Given the description of an element on the screen output the (x, y) to click on. 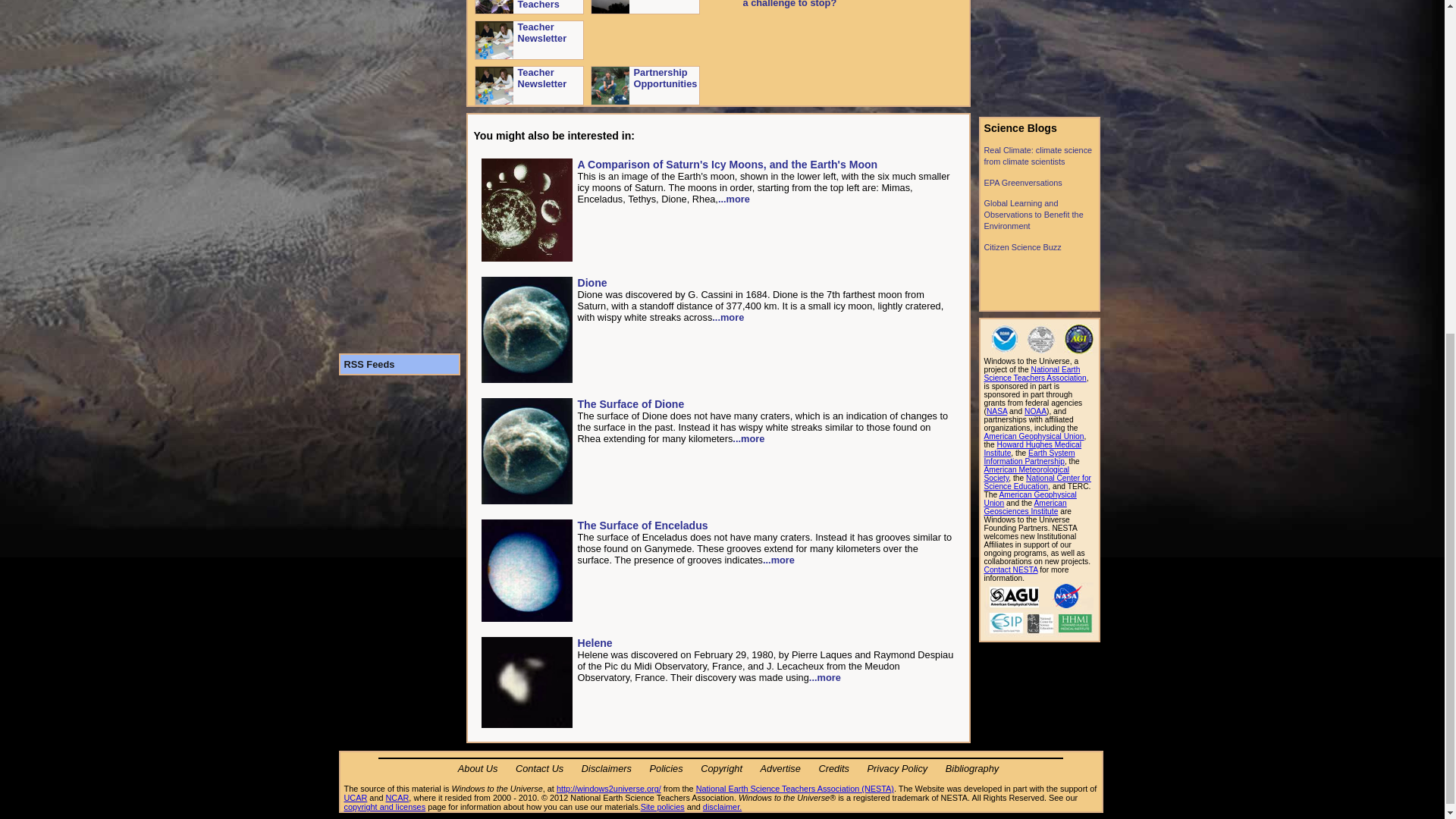
Advertisement (1038, 55)
